Given the description of an element on the screen output the (x, y) to click on. 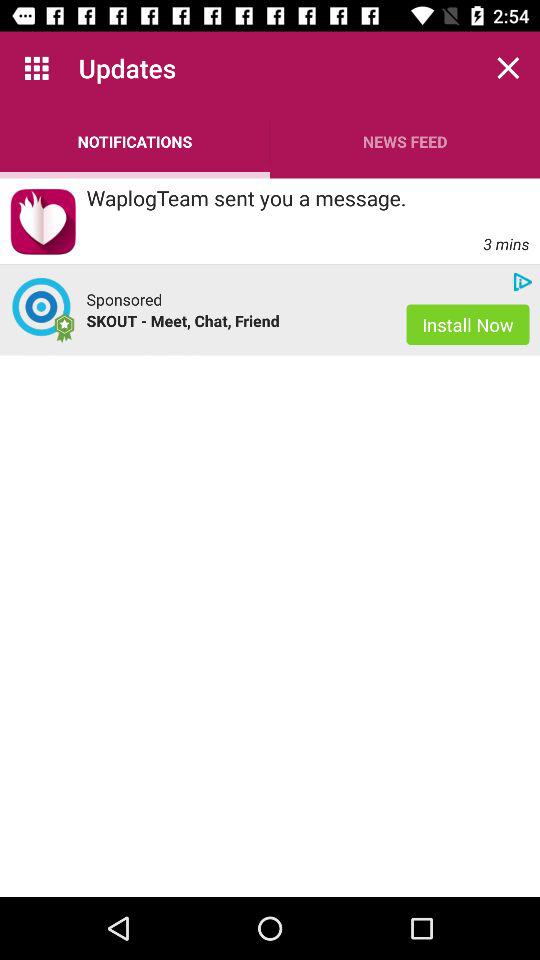
turn off the item to the left of sponsored (43, 310)
